Given the description of an element on the screen output the (x, y) to click on. 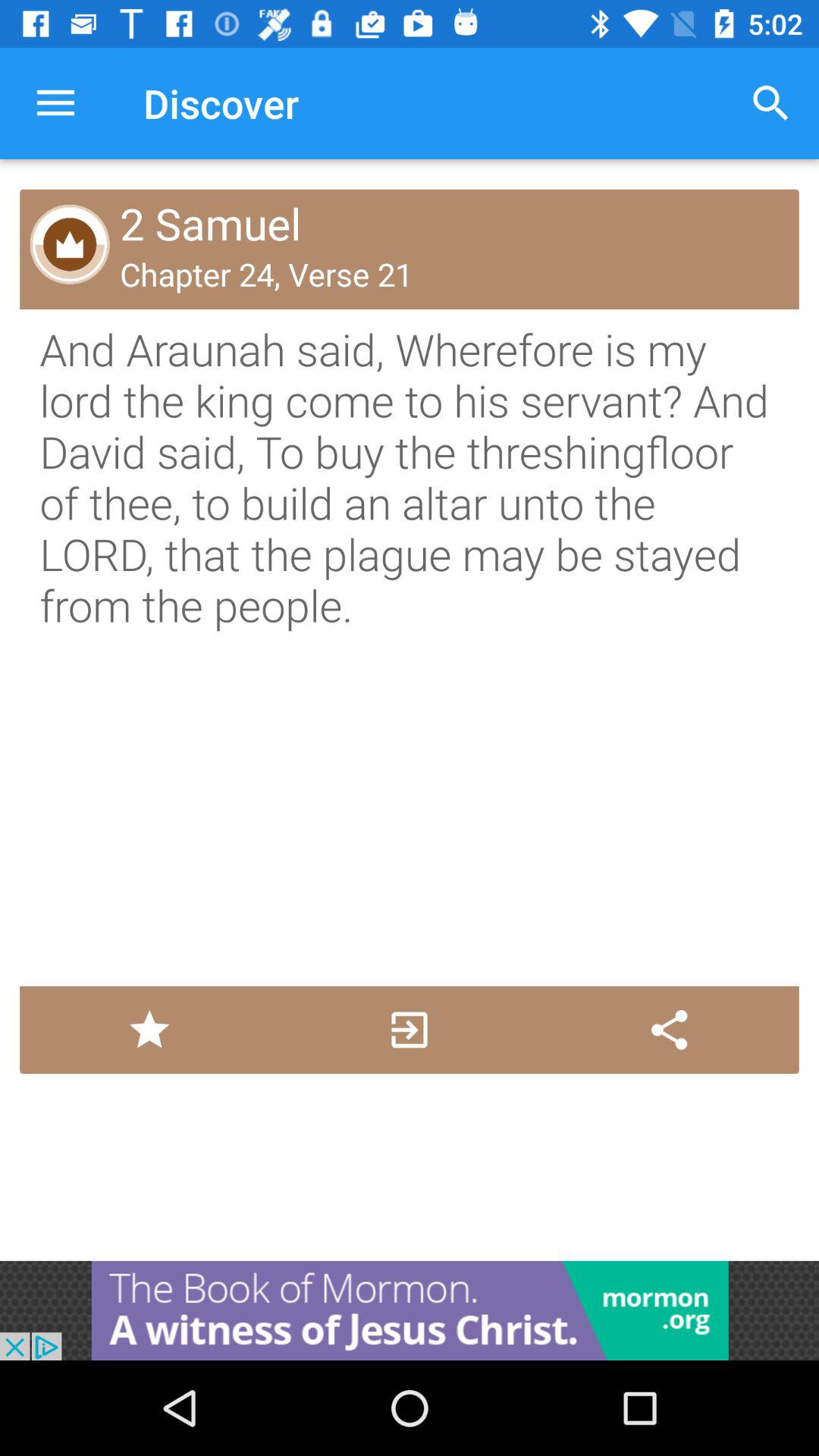
app advertisement (409, 1310)
